Given the description of an element on the screen output the (x, y) to click on. 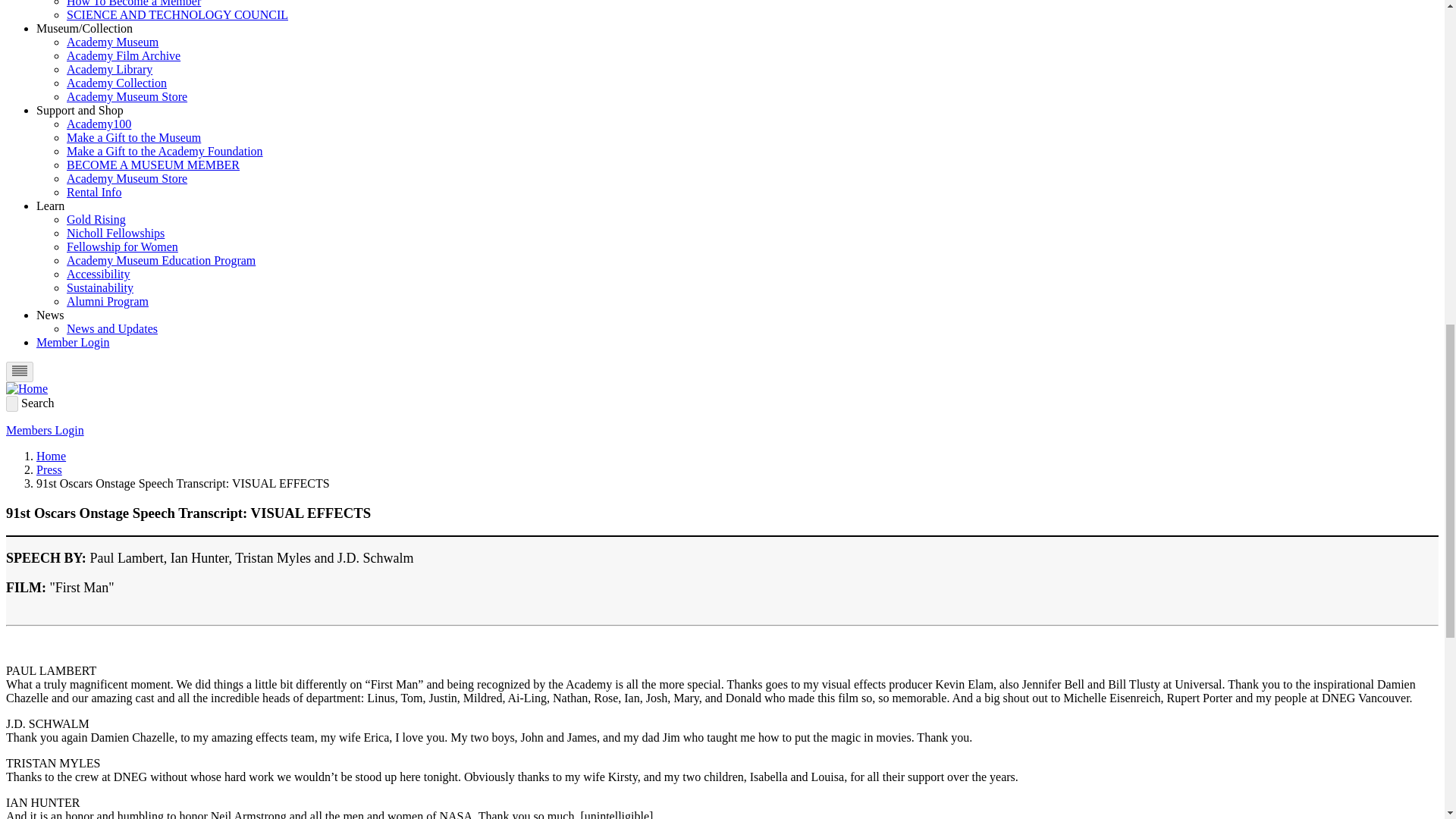
How To Become a Member (133, 3)
SCIENCE AND TECHNOLOGY COUNCIL (177, 14)
Academy Collection (116, 82)
Academy Museum Store (126, 96)
Academy Library (109, 69)
Academy Museum (112, 42)
Academy Film Archive (123, 55)
